Given the description of an element on the screen output the (x, y) to click on. 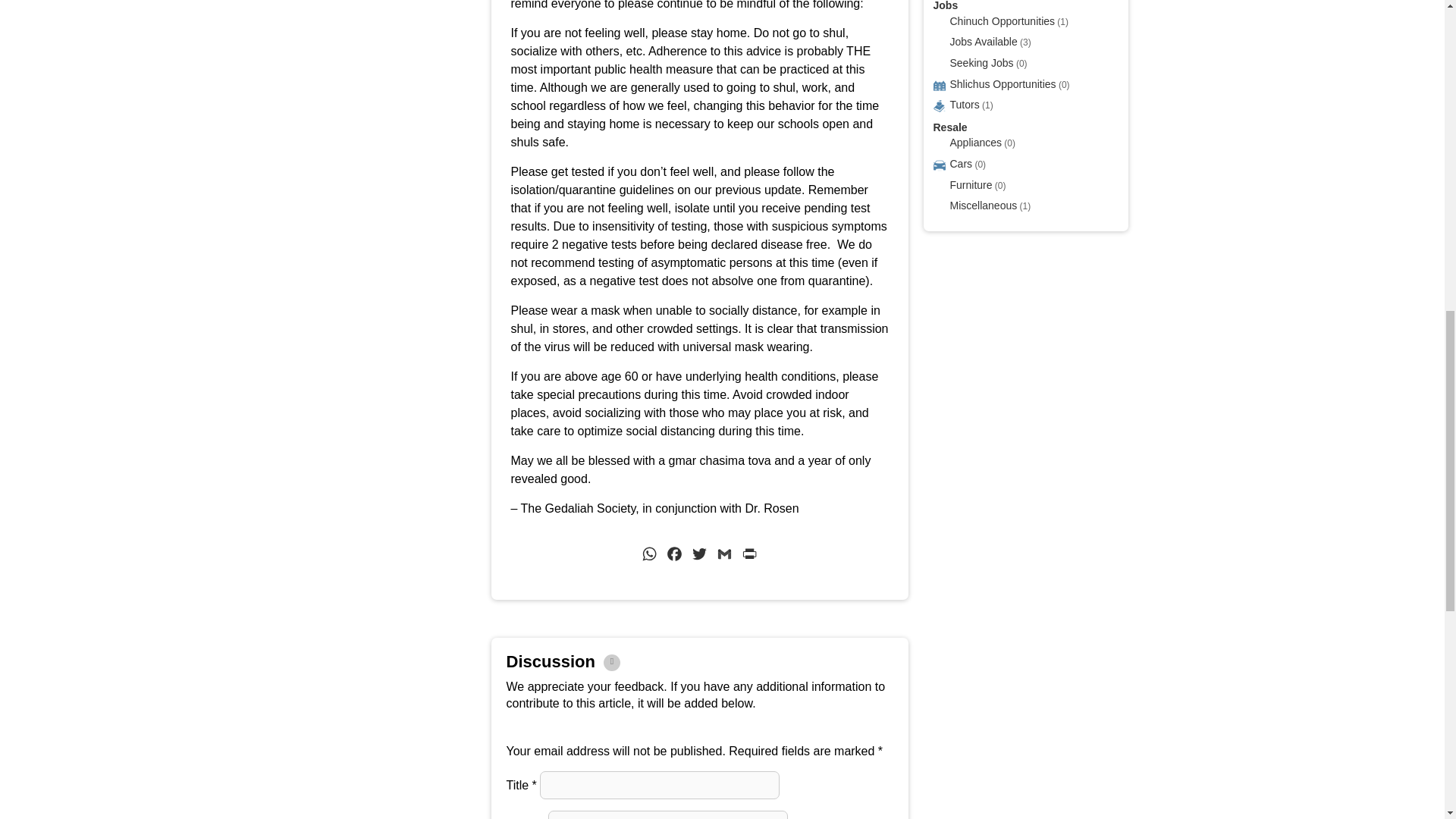
Gmail (723, 556)
Twitter (699, 556)
Facebook (674, 556)
WhatsApp (649, 556)
Print (748, 556)
Facebook (674, 556)
WhatsApp (649, 556)
